Given the description of an element on the screen output the (x, y) to click on. 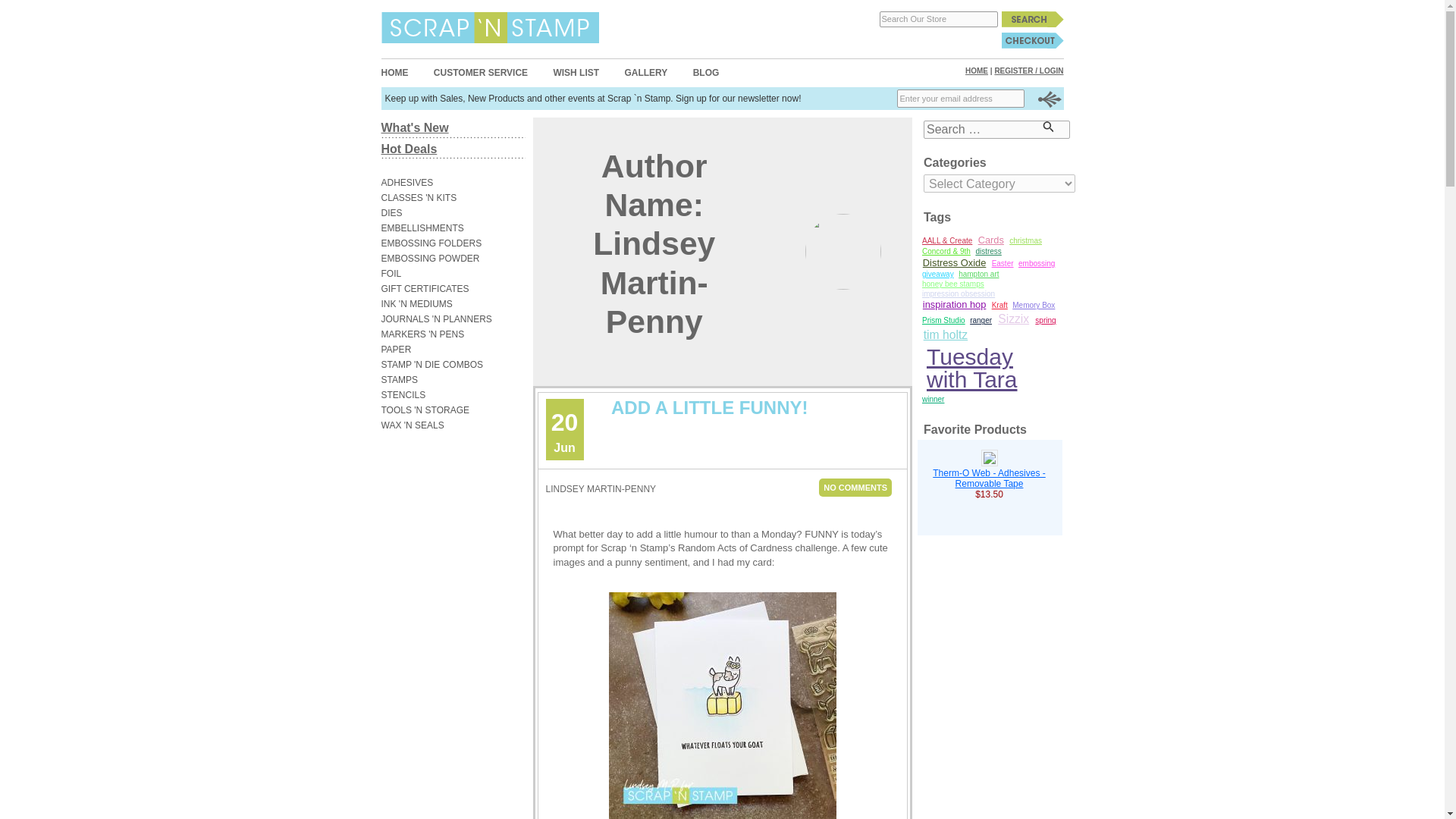
GALLERY (645, 72)
1 topic (946, 252)
Enter your email address (959, 98)
HOME (976, 70)
ADHESIVES (444, 182)
1 topic (978, 274)
Search Our Store (938, 19)
2 topics (954, 263)
What's New (414, 127)
1 topic (958, 293)
WISH LIST (575, 72)
1 topic (953, 284)
CUSTOMER SERVICE (480, 72)
1 topic (1025, 240)
Search (1031, 18)
